Given the description of an element on the screen output the (x, y) to click on. 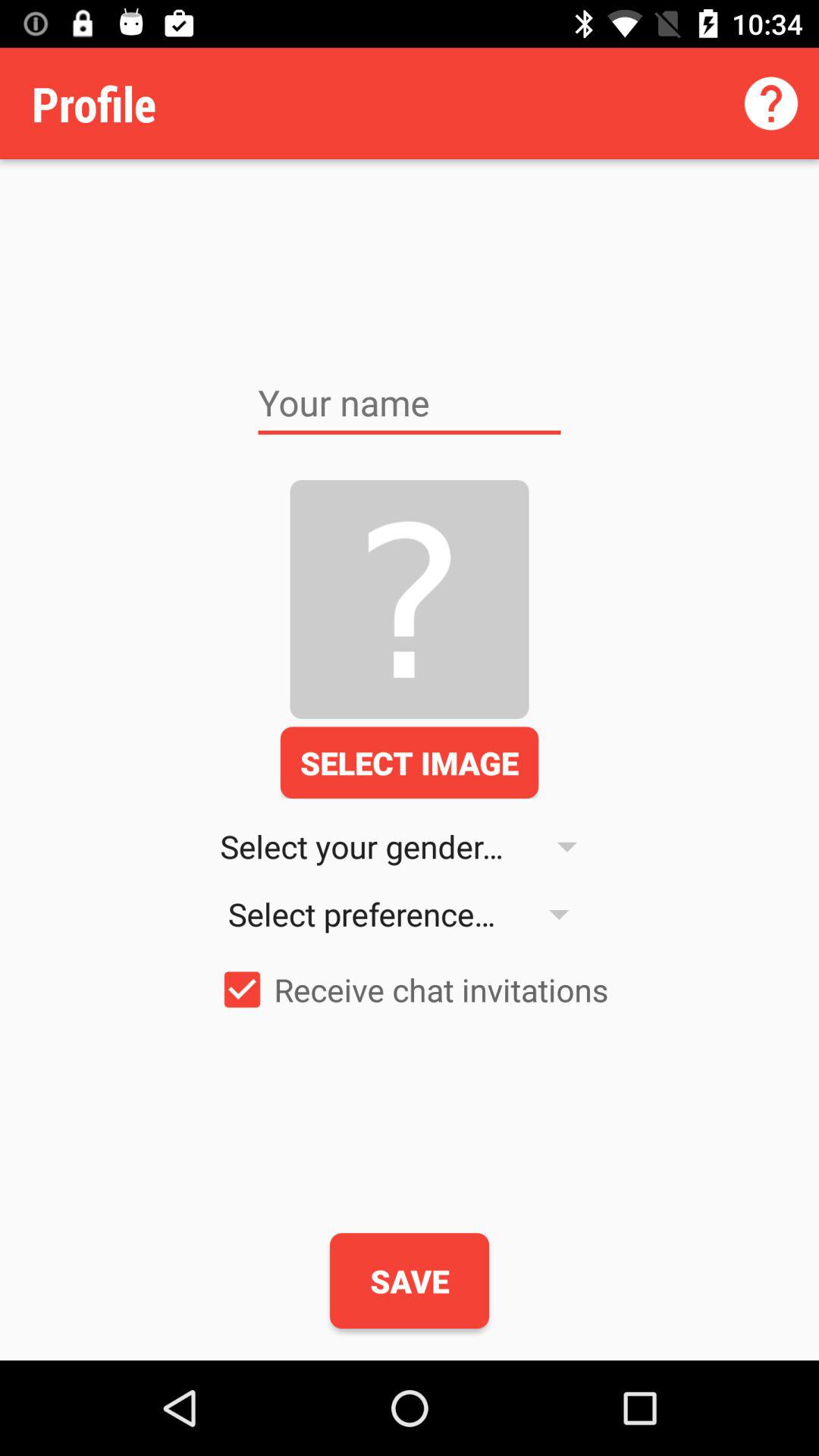
press the item at the top right corner (771, 103)
